Given the description of an element on the screen output the (x, y) to click on. 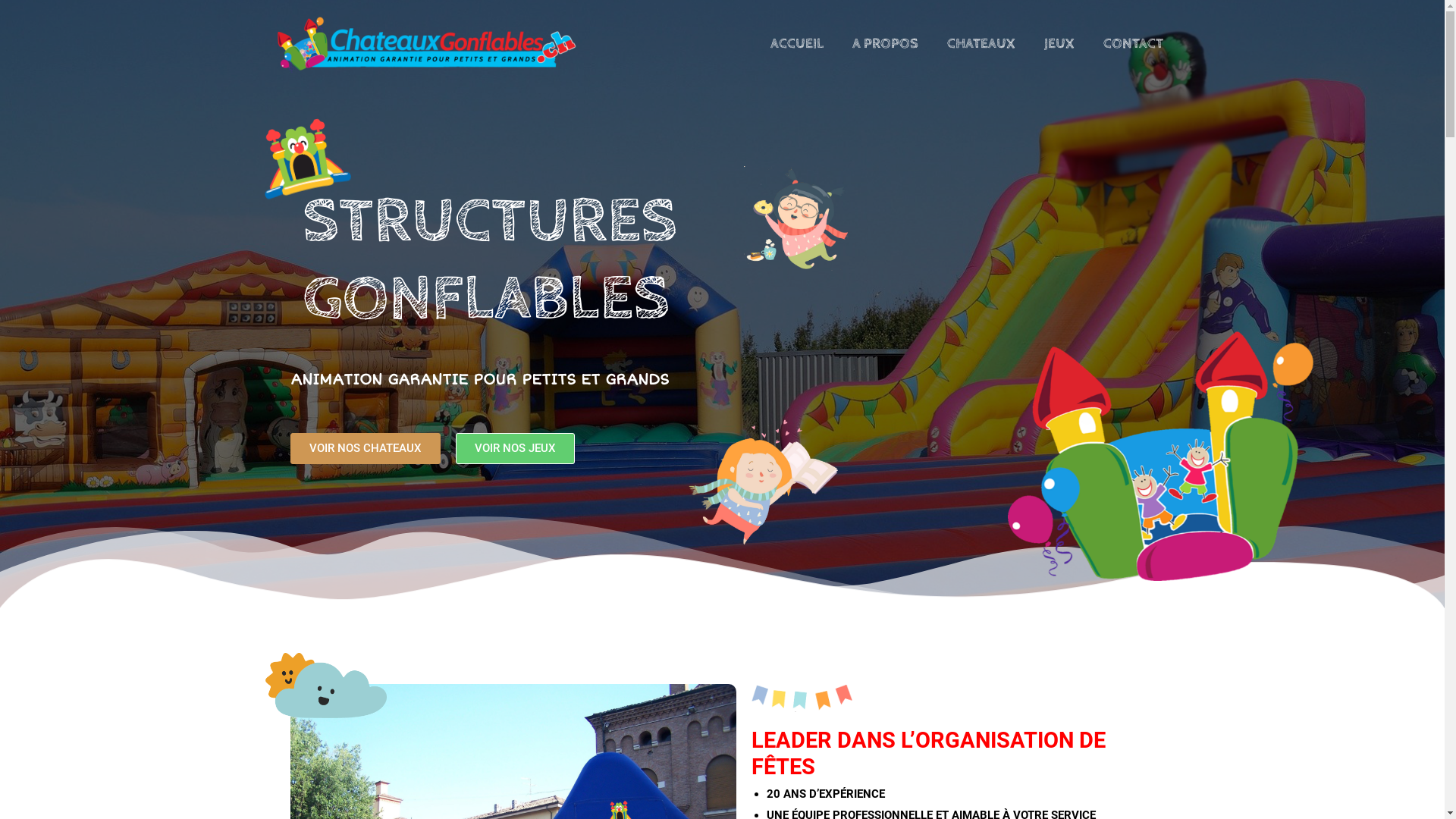
CHATEAUX Element type: text (980, 43)
VOIR NOS CHATEAUX Element type: text (364, 448)
VOIR NOS JEUX Element type: text (514, 448)
JEUX Element type: text (1058, 43)
A PROPOS Element type: text (884, 43)
ACCUEIL Element type: text (796, 43)
CONTACT Element type: text (1132, 43)
